Given the description of an element on the screen output the (x, y) to click on. 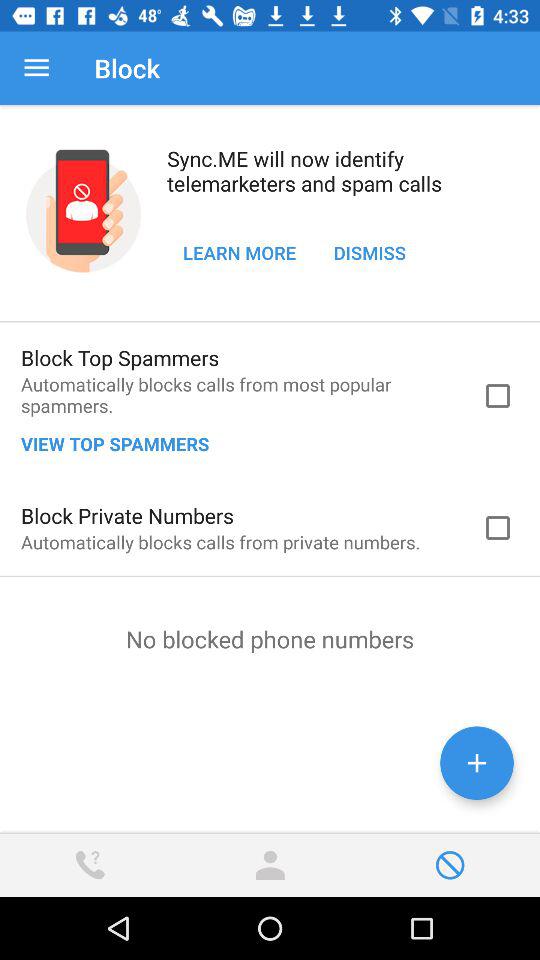
launch the icon below sync me will (369, 252)
